Given the description of an element on the screen output the (x, y) to click on. 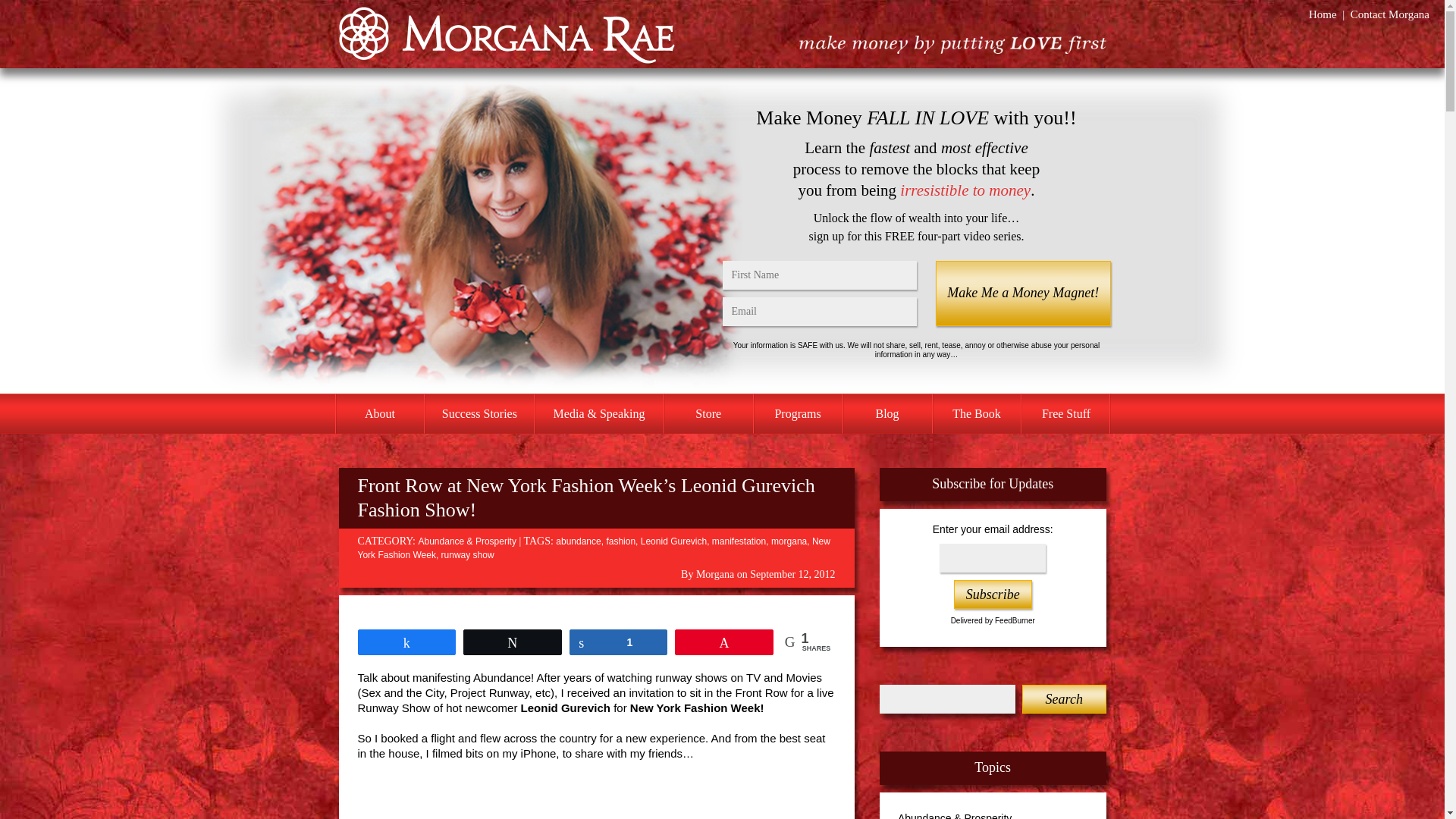
Make Me a Money Magnet! (1022, 293)
About (378, 413)
Contact Morgana (1390, 14)
Make Me a Money Magnet! (1022, 293)
Posts by Morgana (714, 573)
Blog (887, 413)
Store (707, 413)
Programs (798, 413)
Free Stuff (1065, 413)
Subscribe (992, 594)
Search (1063, 698)
The Book (977, 413)
Home (1322, 14)
Success Stories (479, 413)
